Given the description of an element on the screen output the (x, y) to click on. 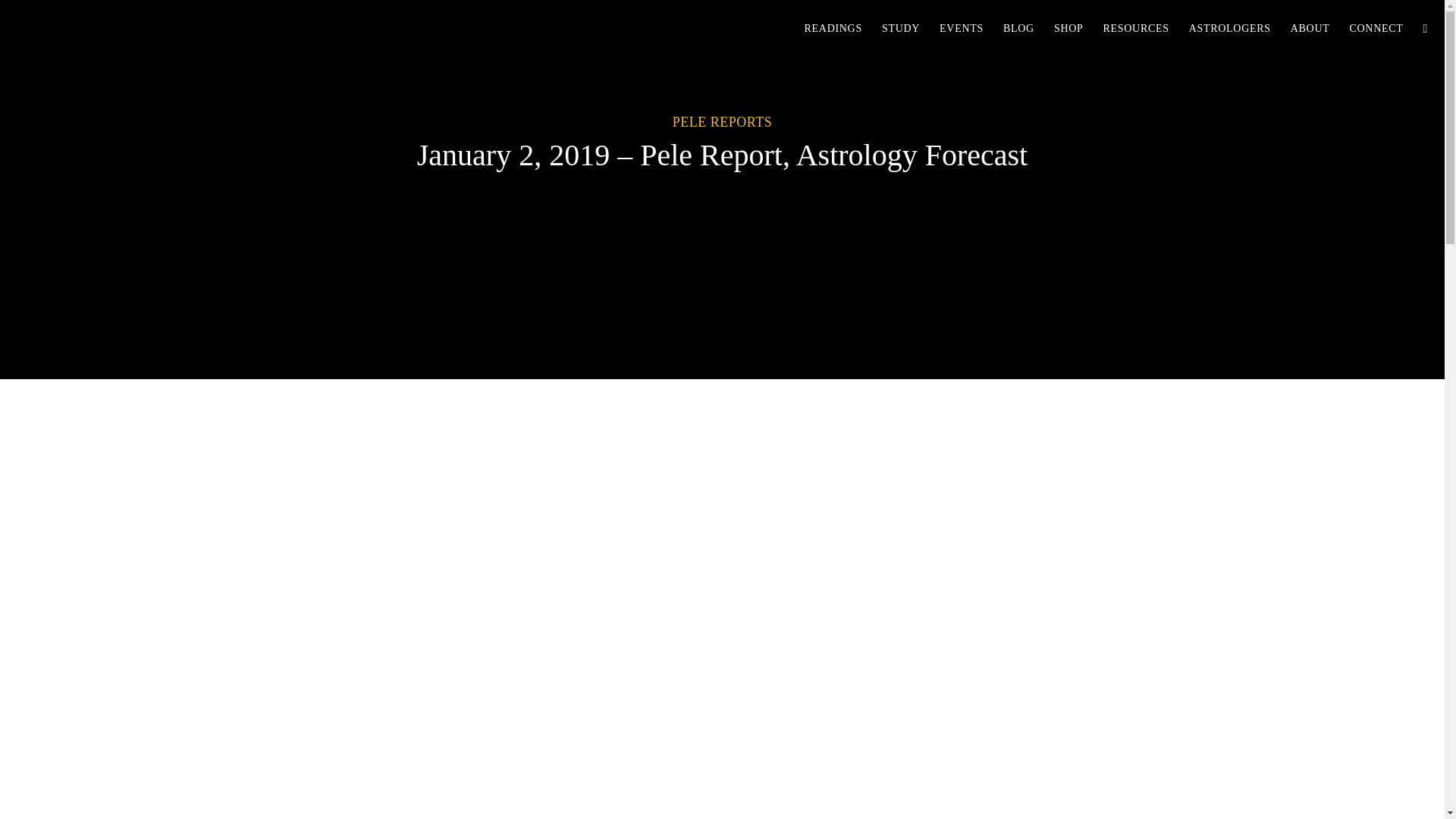
ASTROLOGERS (1230, 28)
RESOURCES (1135, 28)
EVENTS (961, 28)
READINGS (833, 28)
STUDY (901, 28)
About Kaypacha (1310, 28)
CONNECT (1376, 28)
ABOUT (1310, 28)
